Given the description of an element on the screen output the (x, y) to click on. 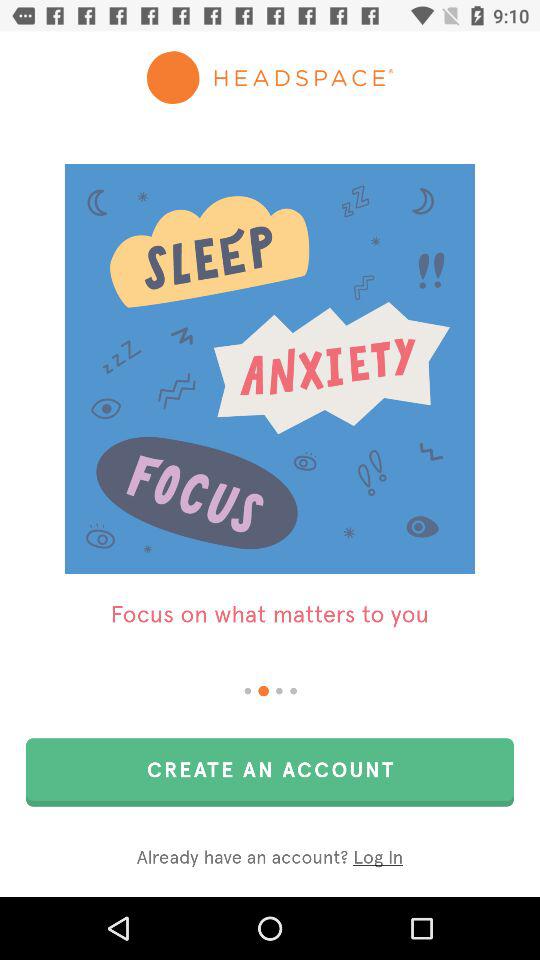
scroll until already have an (269, 857)
